Given the description of an element on the screen output the (x, y) to click on. 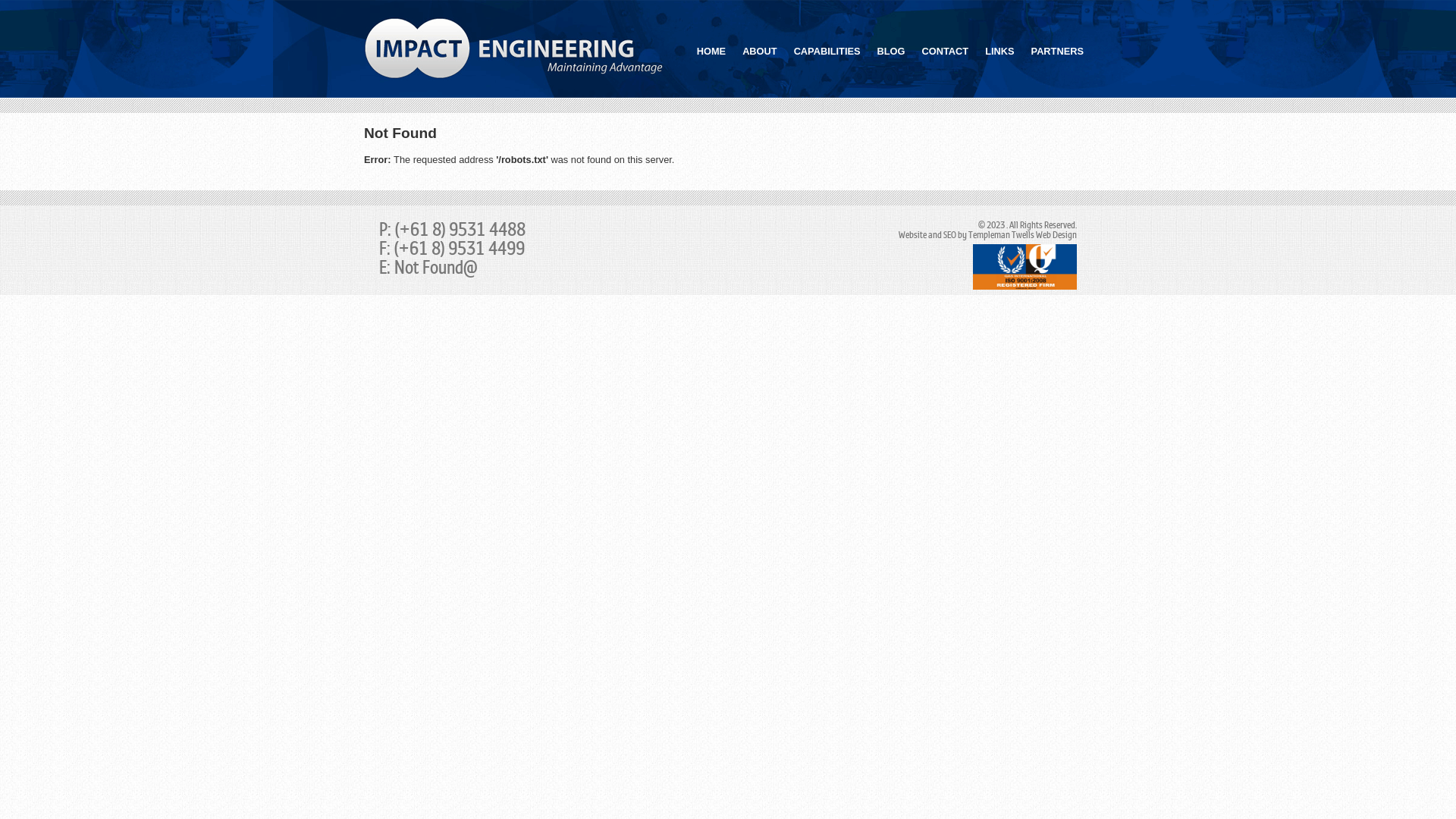
Templeman Twells Web Design Element type: text (1022, 235)
CONTACT Element type: text (945, 51)
PARTNERS Element type: text (1057, 51)
ABOUT Element type: text (759, 51)
Not Found@ Element type: text (435, 267)
CAPABILITIES Element type: text (827, 51)
LINKS Element type: text (999, 51)
SEO Element type: text (949, 235)
BLOG Element type: text (891, 51)
HOME Element type: text (711, 51)
Website Element type: text (912, 235)
